Given the description of an element on the screen output the (x, y) to click on. 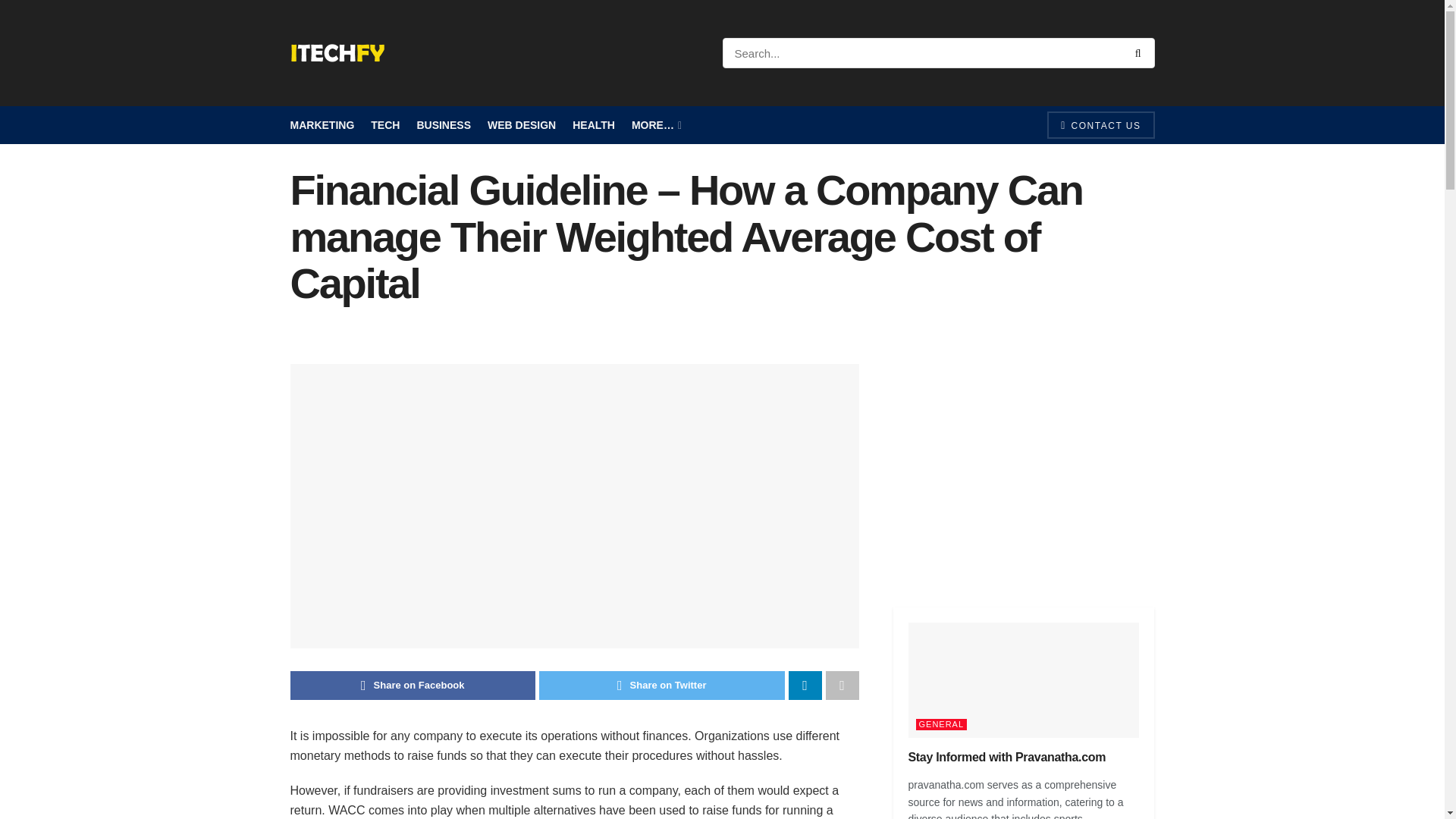
HEALTH (593, 125)
WEB DESIGN (521, 125)
CONTACT US (1100, 124)
BUSINESS (443, 125)
MARKETING (321, 125)
